Given the description of an element on the screen output the (x, y) to click on. 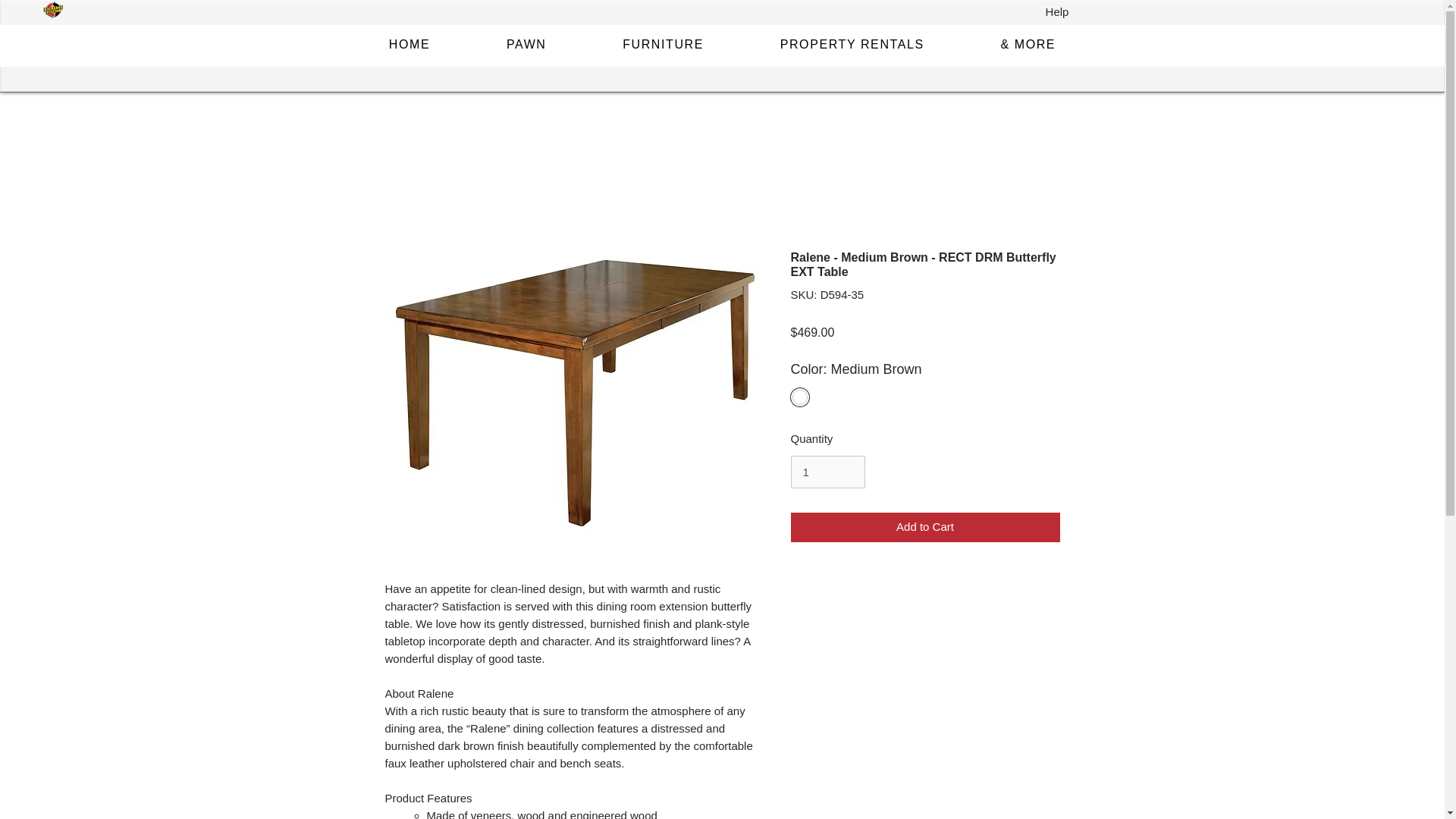
HOME (408, 44)
PROPERTY RENTALS (851, 44)
Add to Cart (924, 527)
Help (1056, 12)
FURNITURE (663, 44)
PAWN (526, 44)
1 (827, 471)
